Given the description of an element on the screen output the (x, y) to click on. 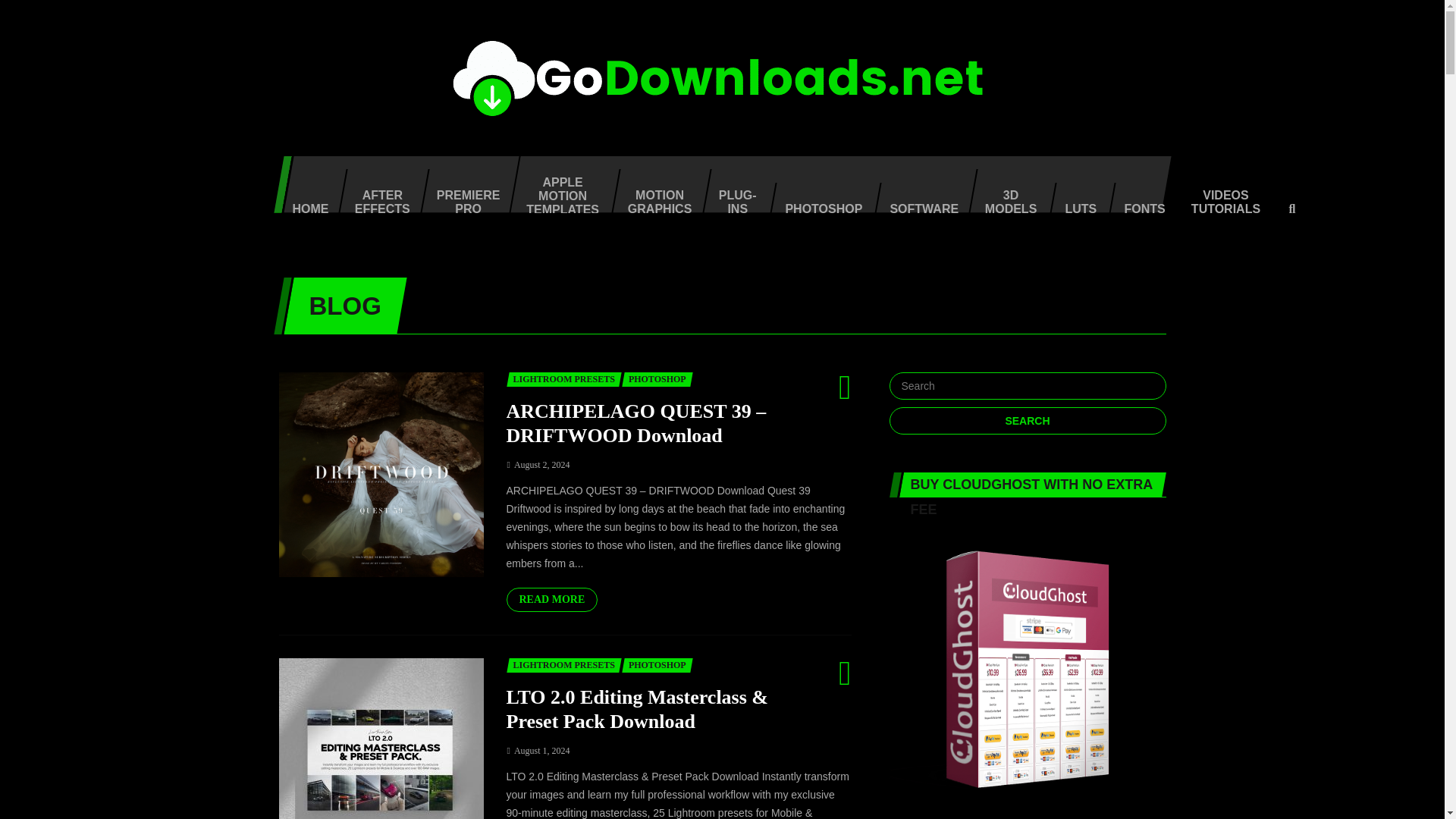
MOTION GRAPHICS (654, 197)
HOME (304, 210)
Apple Motion Templates (558, 184)
SOFTWARE (917, 210)
PREMIERE PRO (464, 197)
Search (1027, 420)
Premiere Pro (464, 197)
Plug-ins (732, 197)
After Effects (377, 197)
AFTER EFFECTS (377, 197)
Home (304, 210)
Motion Graphics (654, 197)
PHOTOSHOP (817, 210)
PLUG-INS (732, 197)
APPLE MOTION TEMPLATES (558, 184)
